Given the description of an element on the screen output the (x, y) to click on. 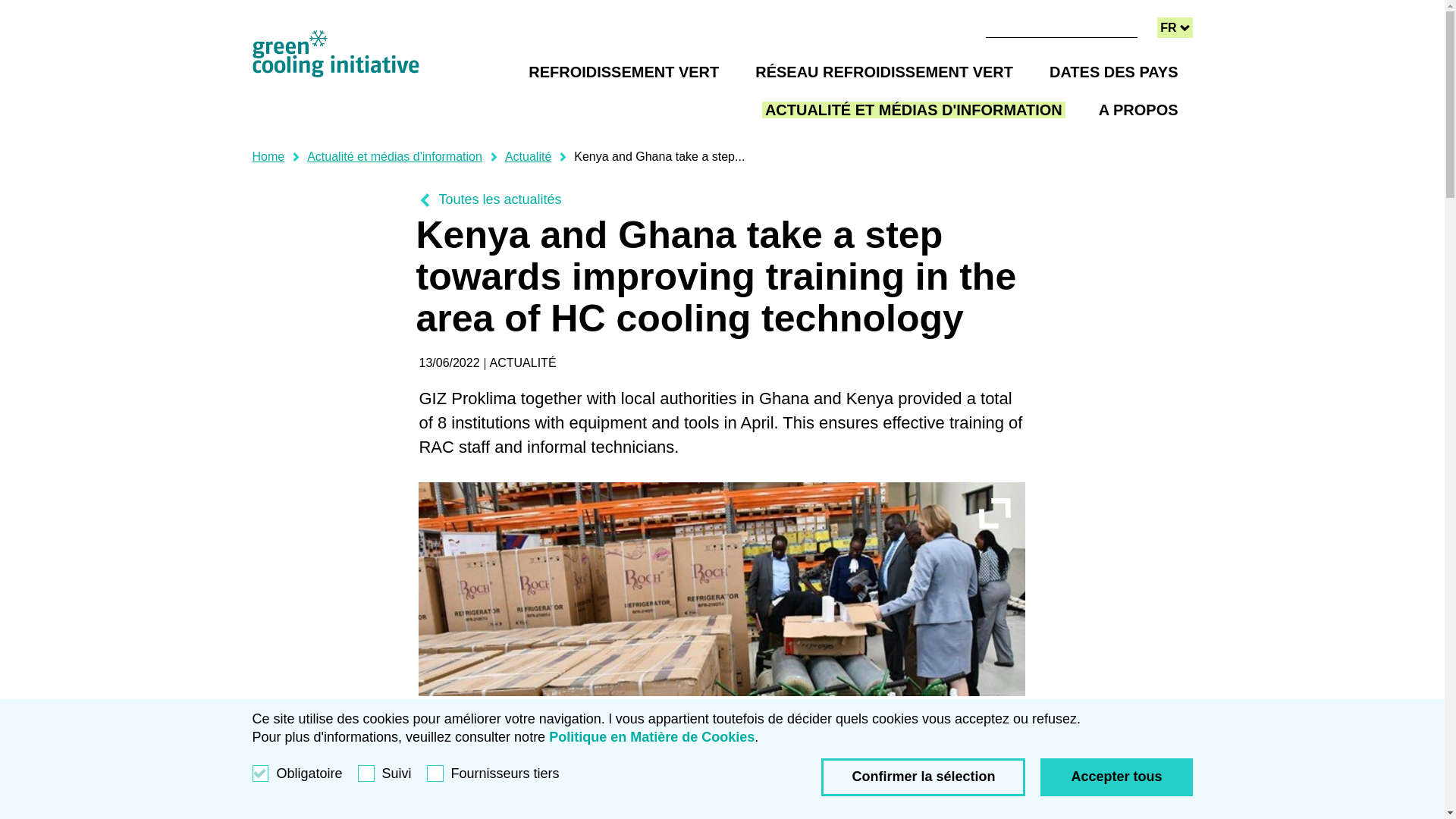
on (1174, 27)
Accepter tous (267, 156)
A PROPOS (1116, 777)
Contenu (1138, 108)
DATES DES PAYS (737, 13)
on (1113, 71)
